Given the description of an element on the screen output the (x, y) to click on. 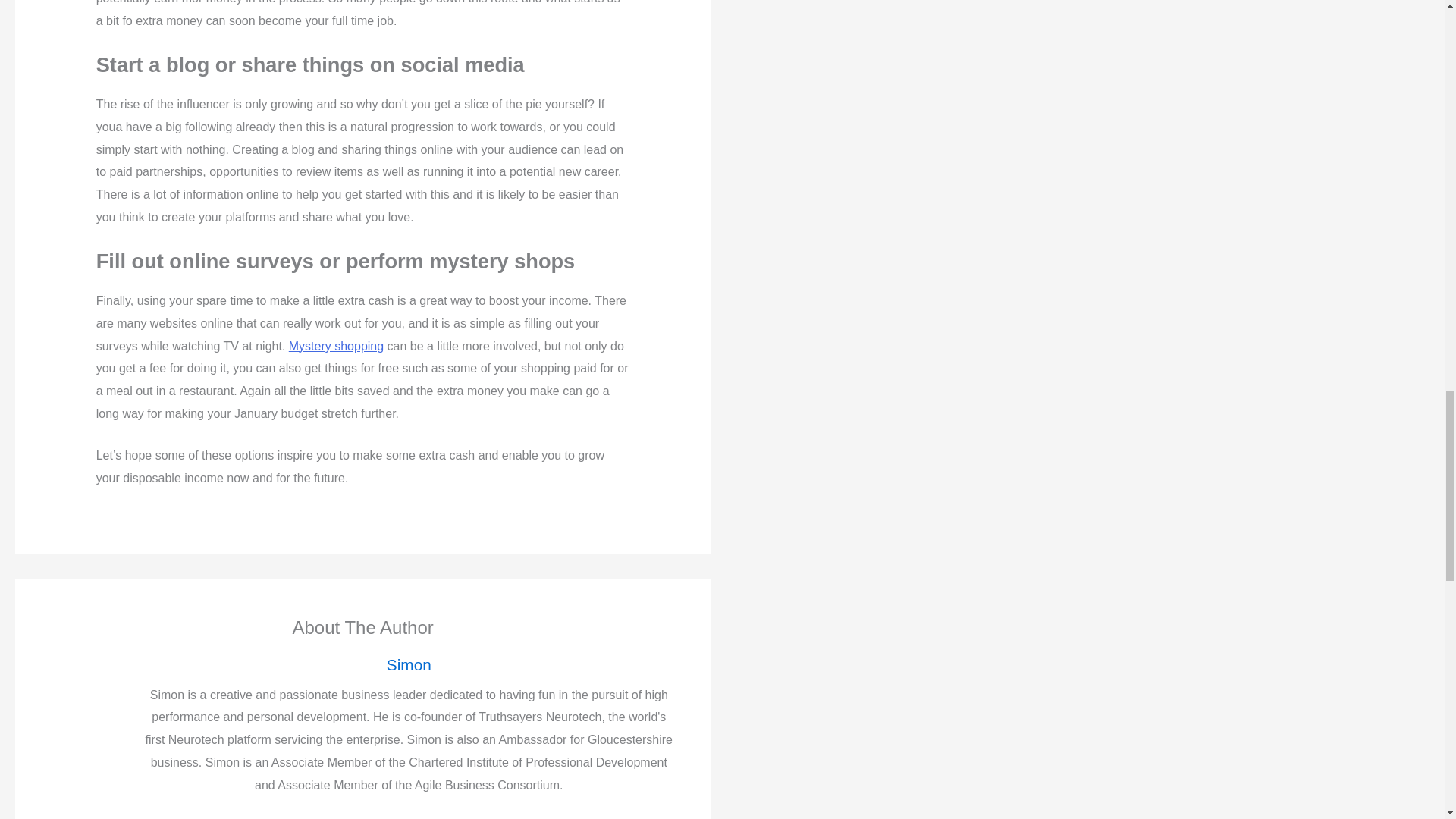
Mystery shopping (336, 345)
Simon (408, 664)
